Given the description of an element on the screen output the (x, y) to click on. 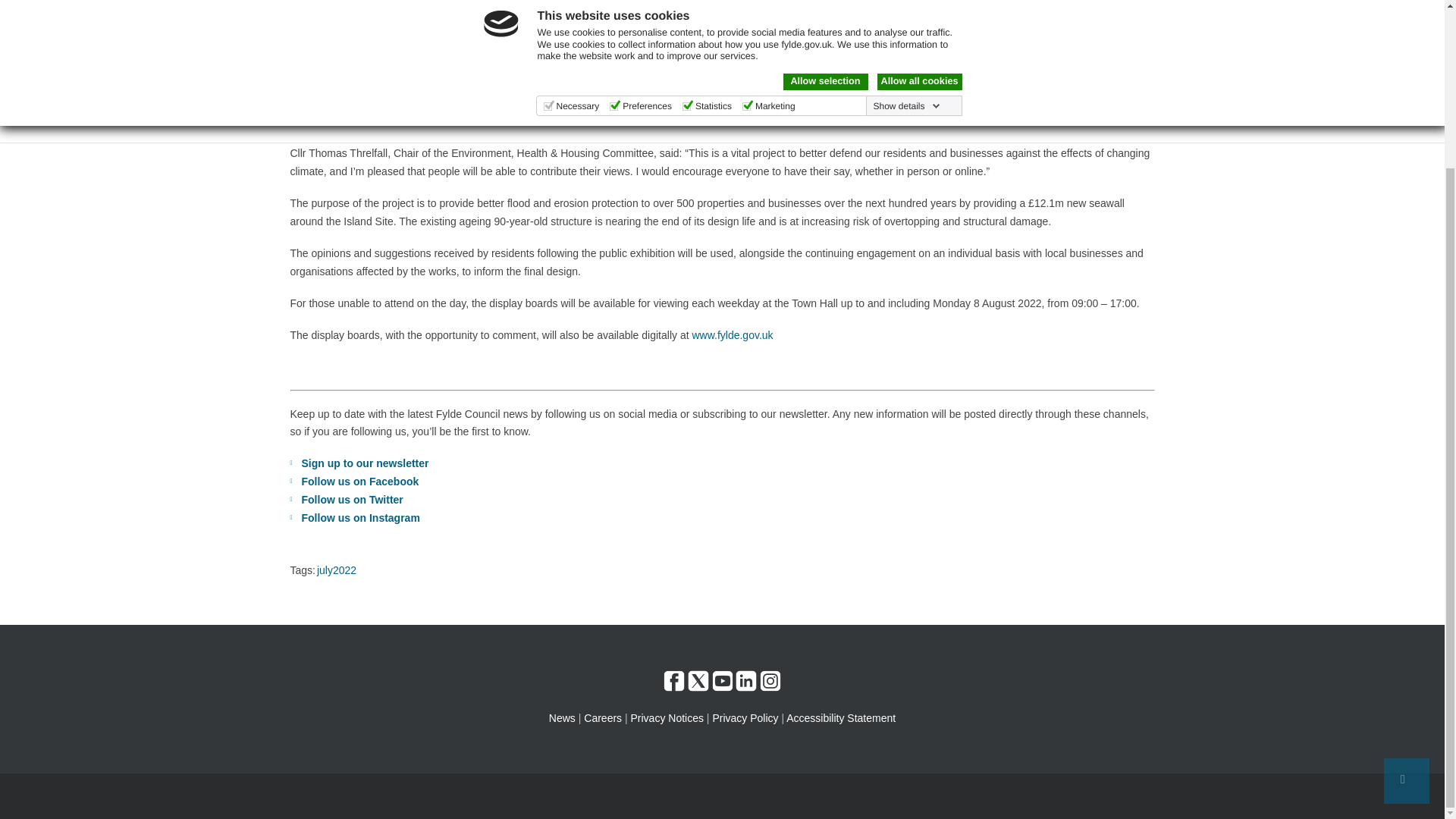
Facebook (673, 680)
View all posts by Fylde Council (437, 16)
july2022 Tag (336, 570)
